Given the description of an element on the screen output the (x, y) to click on. 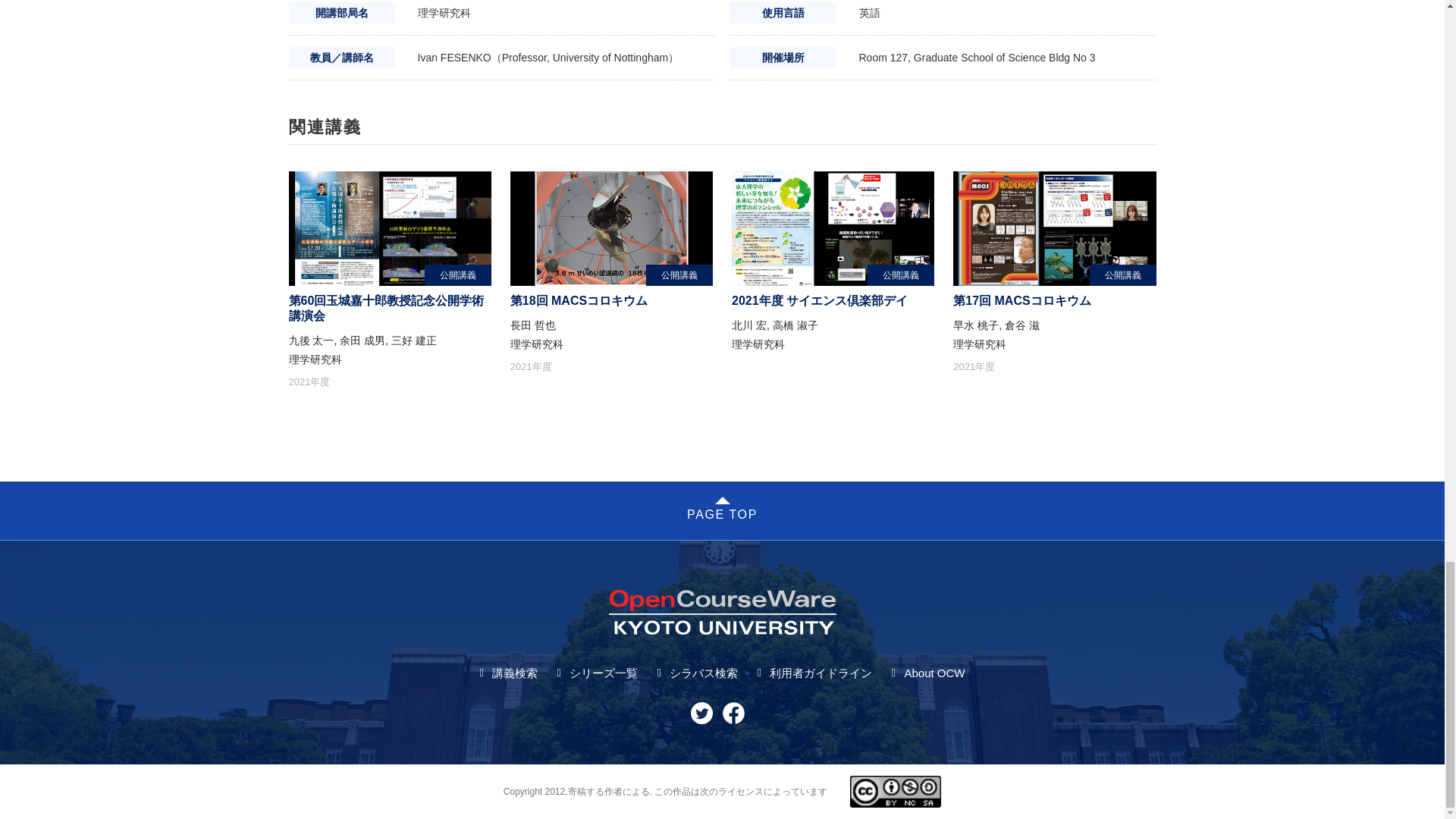
About OCW (933, 672)
